Given the description of an element on the screen output the (x, y) to click on. 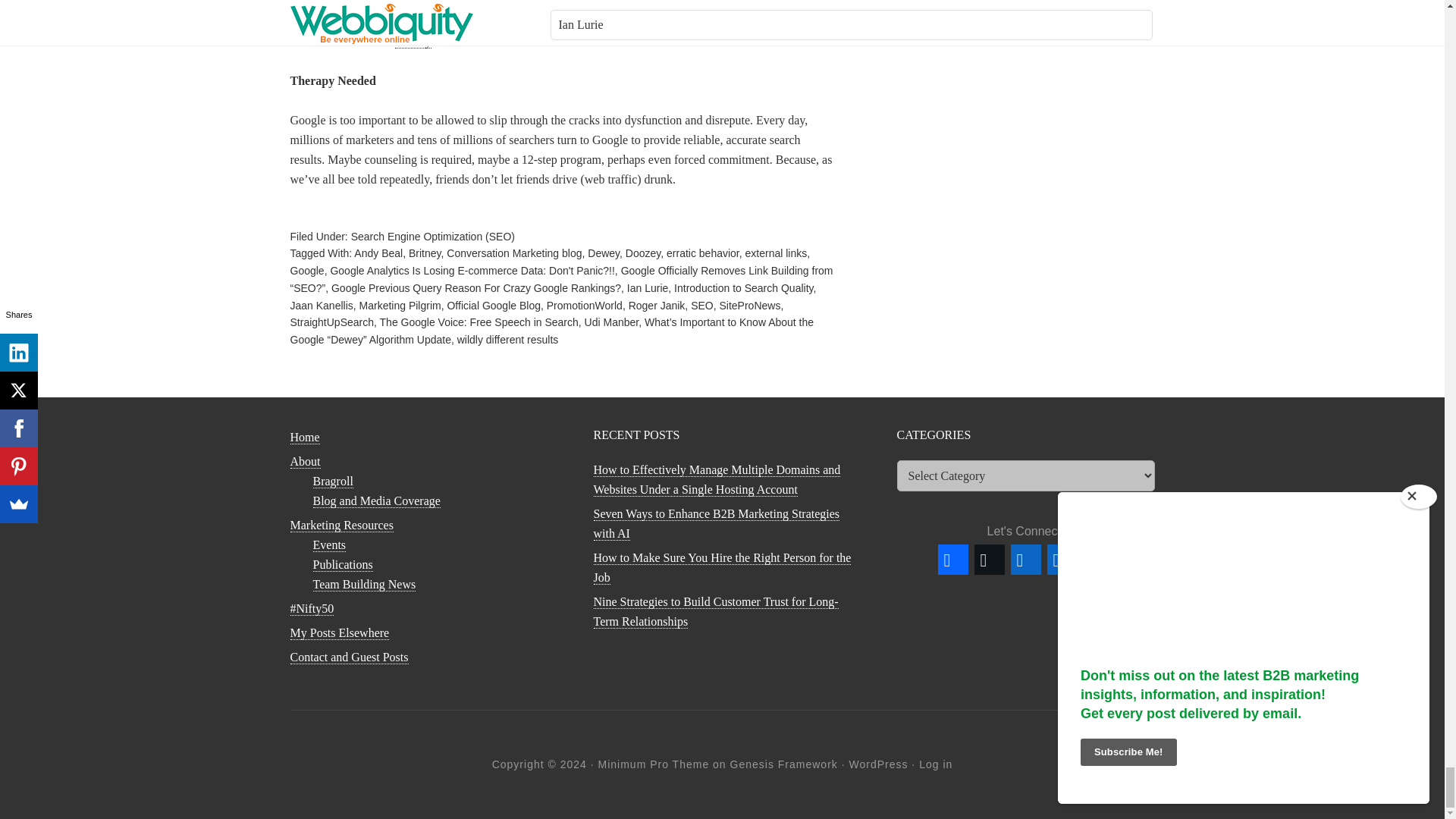
Facebook (952, 559)
Facebook (952, 559)
